Given the description of an element on the screen output the (x, y) to click on. 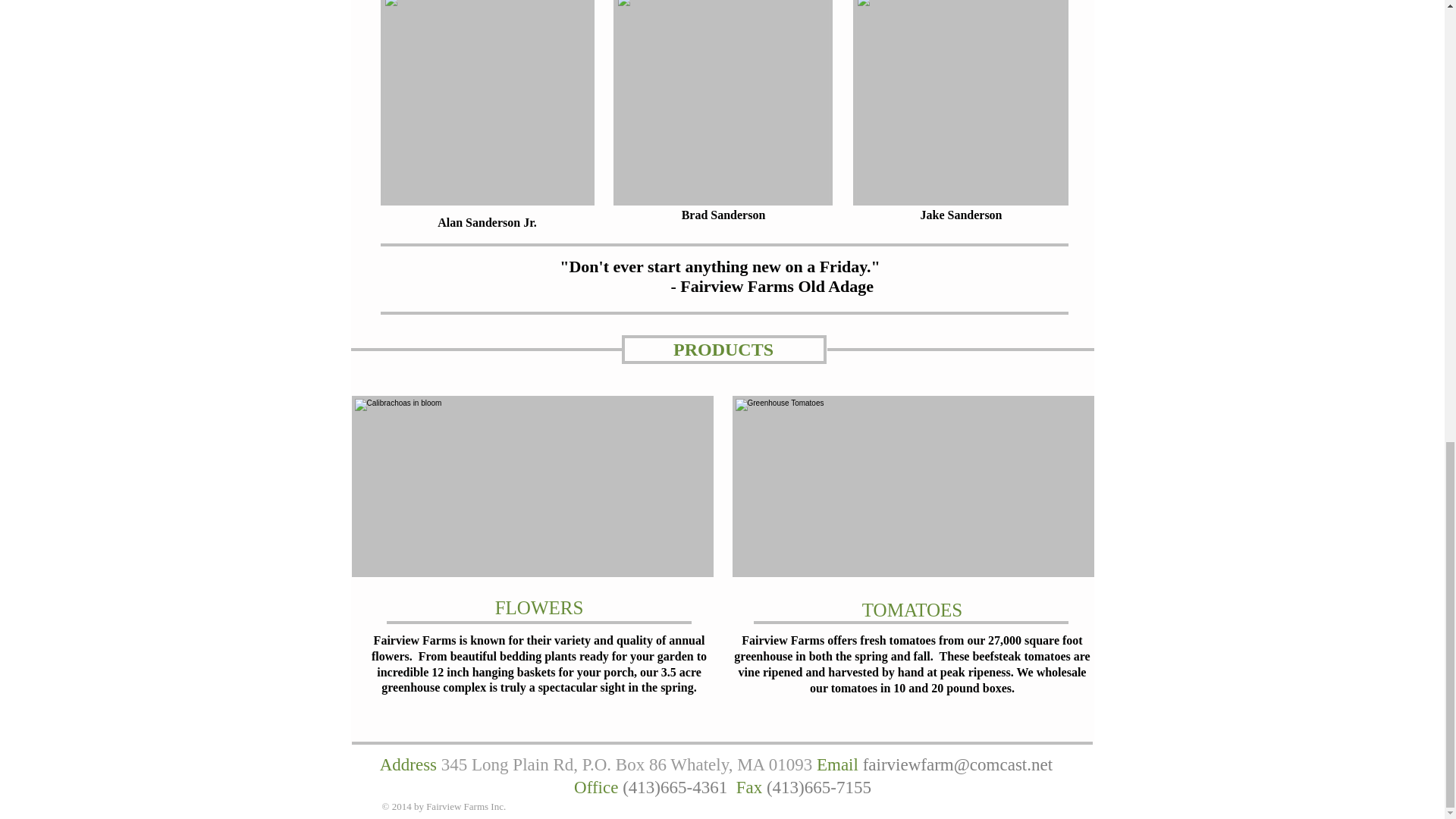
Jake Sanderson.JPG (959, 102)
